Given the description of an element on the screen output the (x, y) to click on. 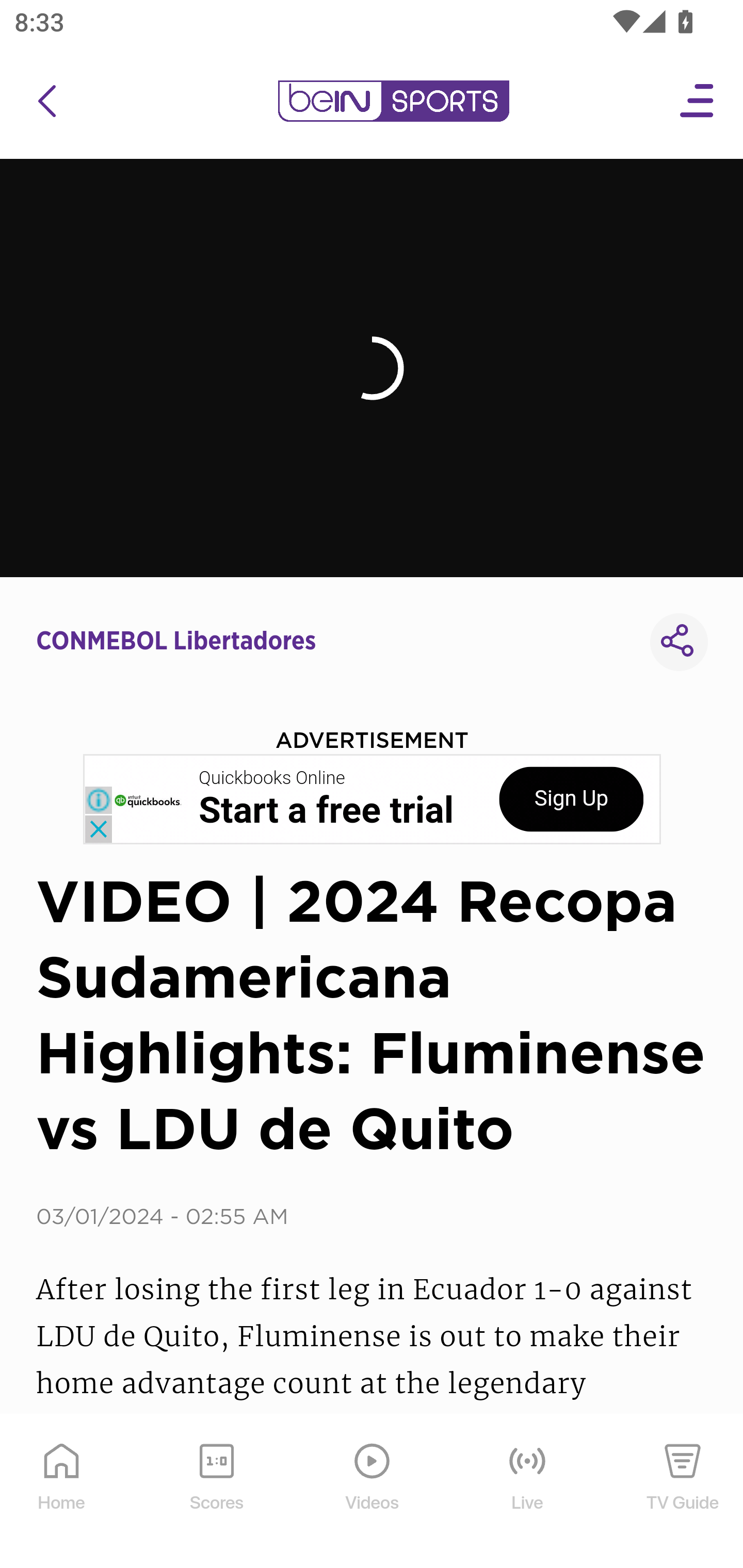
en-us?platform=mobile_android bein logo (392, 101)
icon back (46, 101)
Open Menu Icon (697, 101)
Quickbooks Online (272, 778)
Sign Up (571, 799)
Start a free trial (326, 810)
Home Home Icon Home (61, 1491)
Scores Scores Icon Scores (216, 1491)
Videos Videos Icon Videos (372, 1491)
TV Guide TV Guide Icon TV Guide (682, 1491)
